Given the description of an element on the screen output the (x, y) to click on. 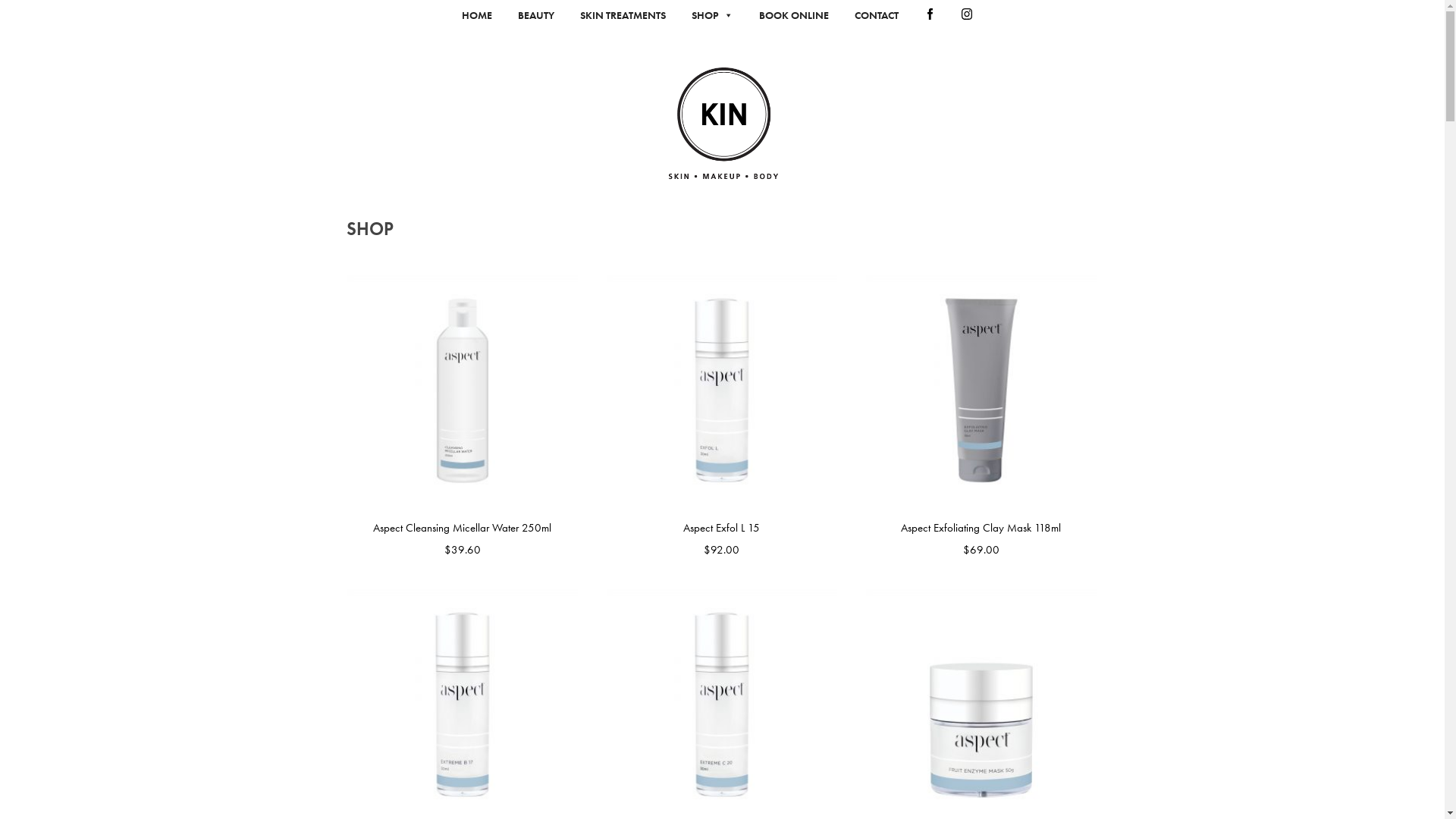
Aspect Cleansing Micellar Water 250ml
$39.60 Element type: text (462, 416)
SHOP Element type: text (712, 15)
BOOK ONLINE Element type: text (793, 15)
CONTACT Element type: text (876, 15)
Aspect Exfoliating Clay Mask 118ml
$69.00 Element type: text (981, 416)
HOME Element type: text (476, 15)
Aspect Exfol L 15
$92.00 Element type: text (721, 416)
SKIN TREATMENTS Element type: text (622, 15)
BEAUTY Element type: text (535, 15)
